Given the description of an element on the screen output the (x, y) to click on. 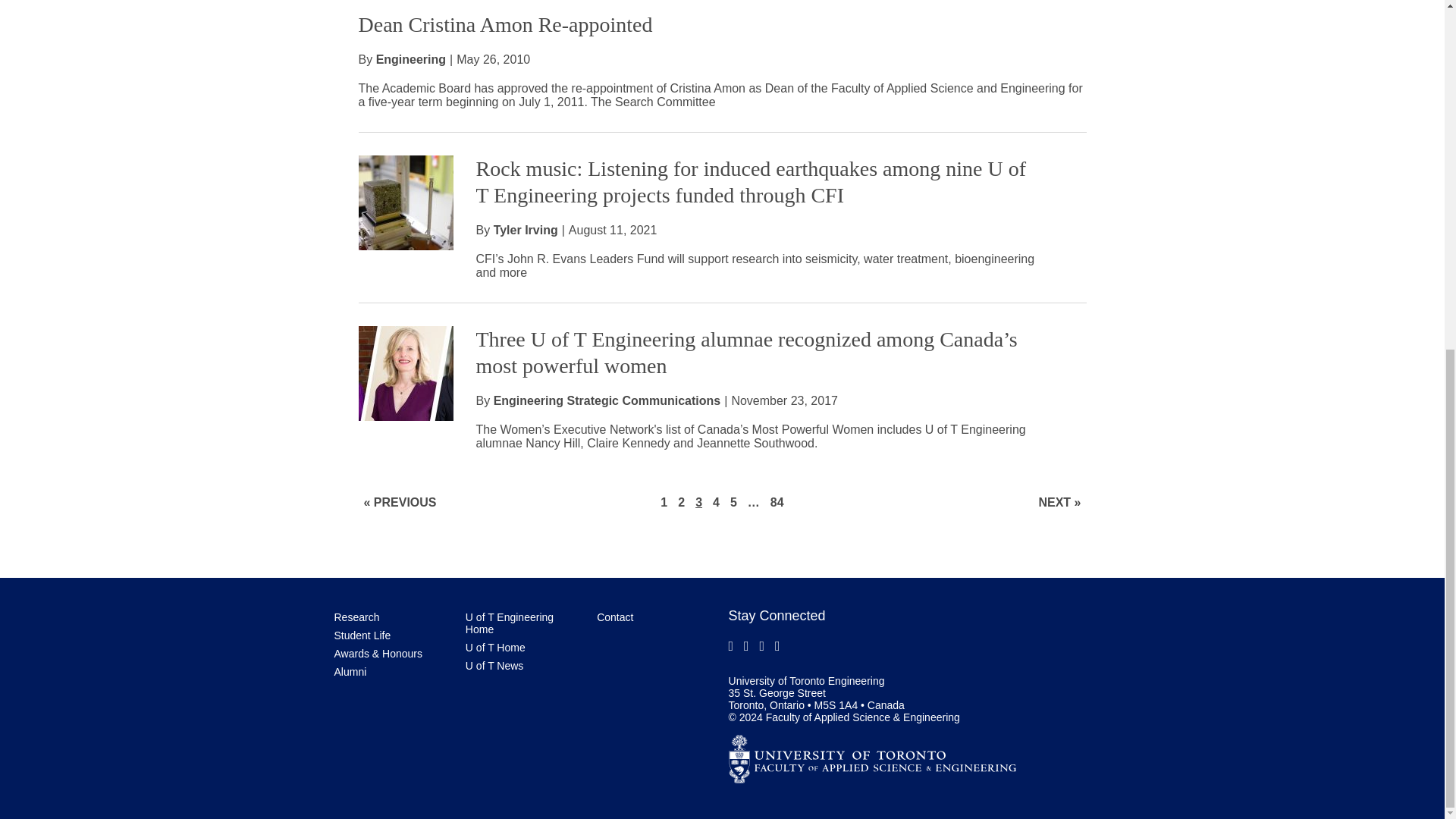
U of T Engineering Home (509, 622)
Dean Cristina Amon Re-appointed (505, 24)
4 (716, 502)
Read More (405, 372)
84 (777, 502)
Read More (405, 202)
1 (663, 502)
2 (681, 502)
5 (733, 502)
Alumni (349, 671)
U of T Home (495, 647)
Research (355, 616)
U of T News (494, 665)
Student Life (361, 635)
